Given the description of an element on the screen output the (x, y) to click on. 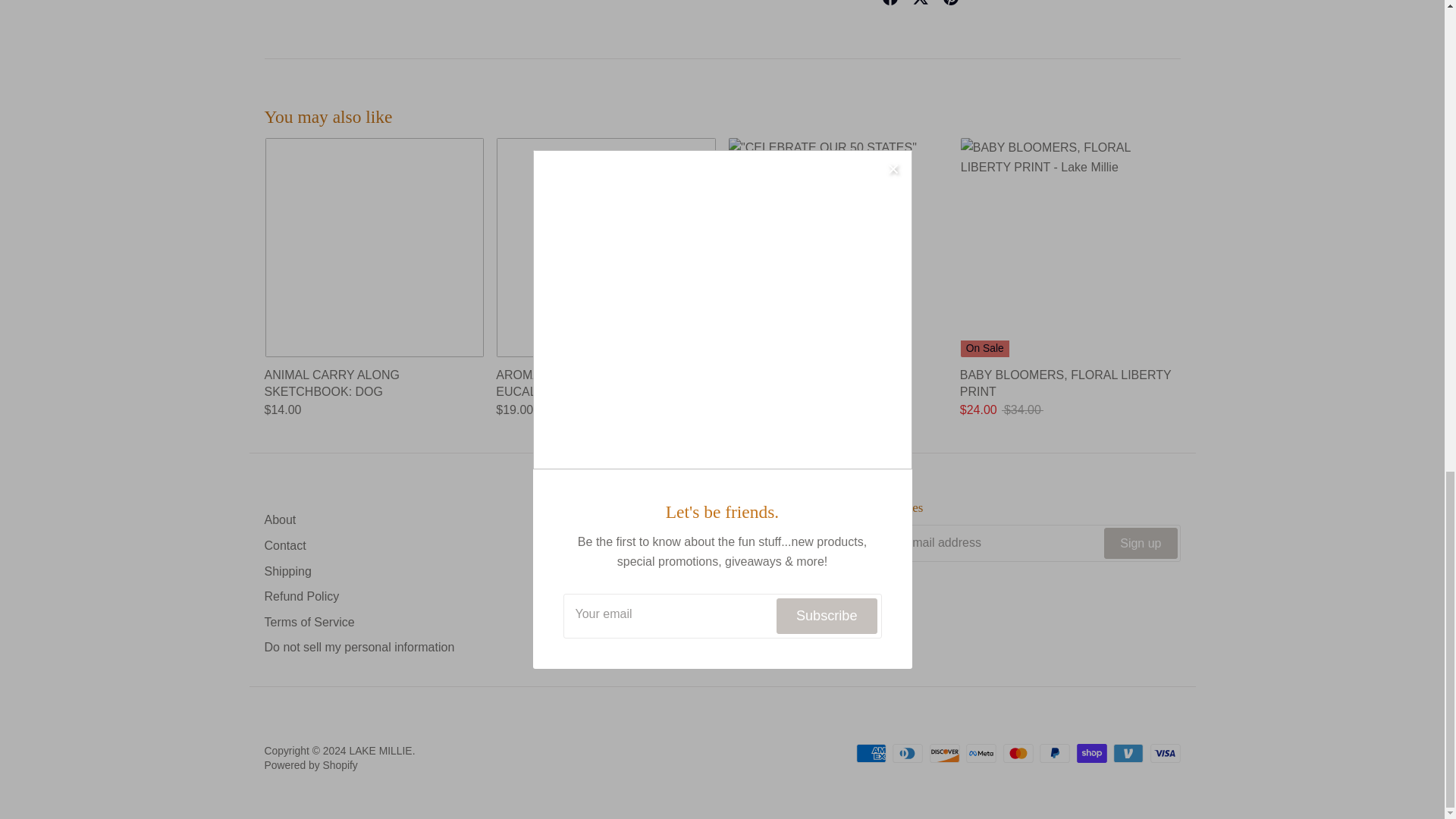
American Express (871, 752)
Diners Club (907, 752)
Meta Pay (980, 752)
Venmo (1127, 752)
Mastercard (1018, 752)
Shop Pay (1091, 752)
Discover (944, 752)
PayPal (1054, 752)
